Given the description of an element on the screen output the (x, y) to click on. 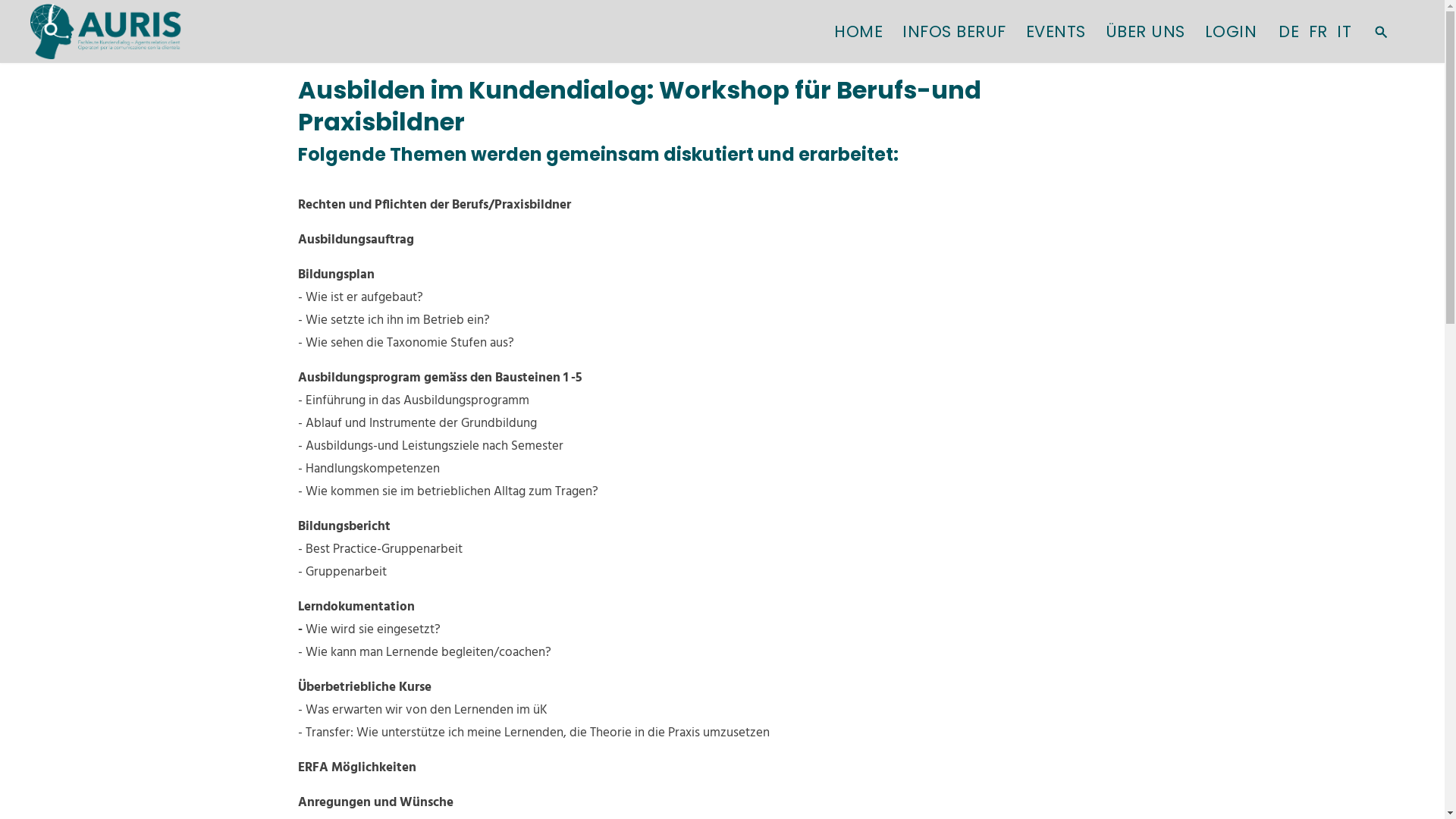
HOME Element type: text (858, 31)
FR Element type: text (1317, 31)
DE Element type: text (1288, 31)
IT Element type: text (1343, 31)
LOGIN Element type: text (1230, 31)
